Given the description of an element on the screen output the (x, y) to click on. 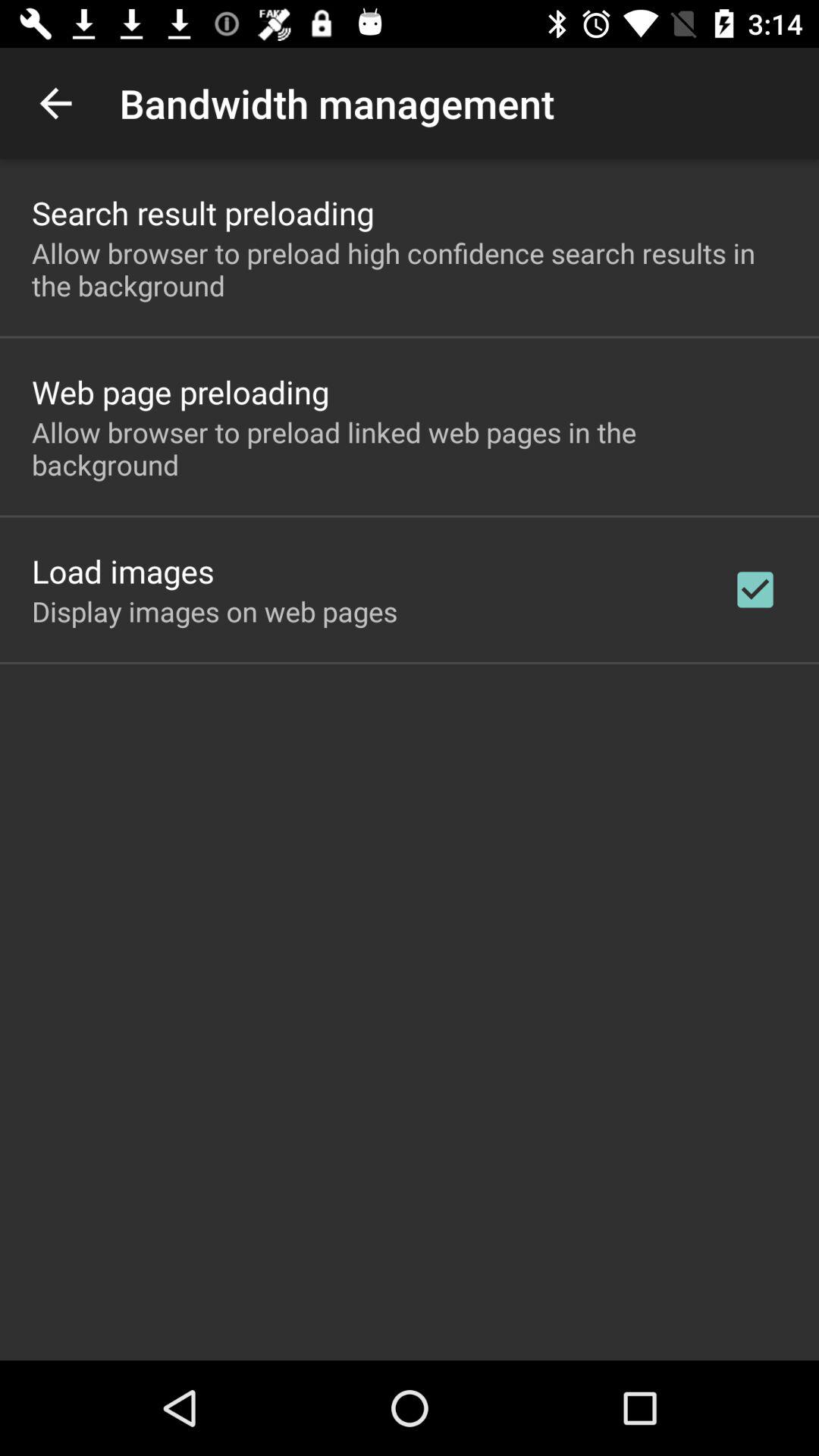
turn off item to the right of display images on item (755, 589)
